Given the description of an element on the screen output the (x, y) to click on. 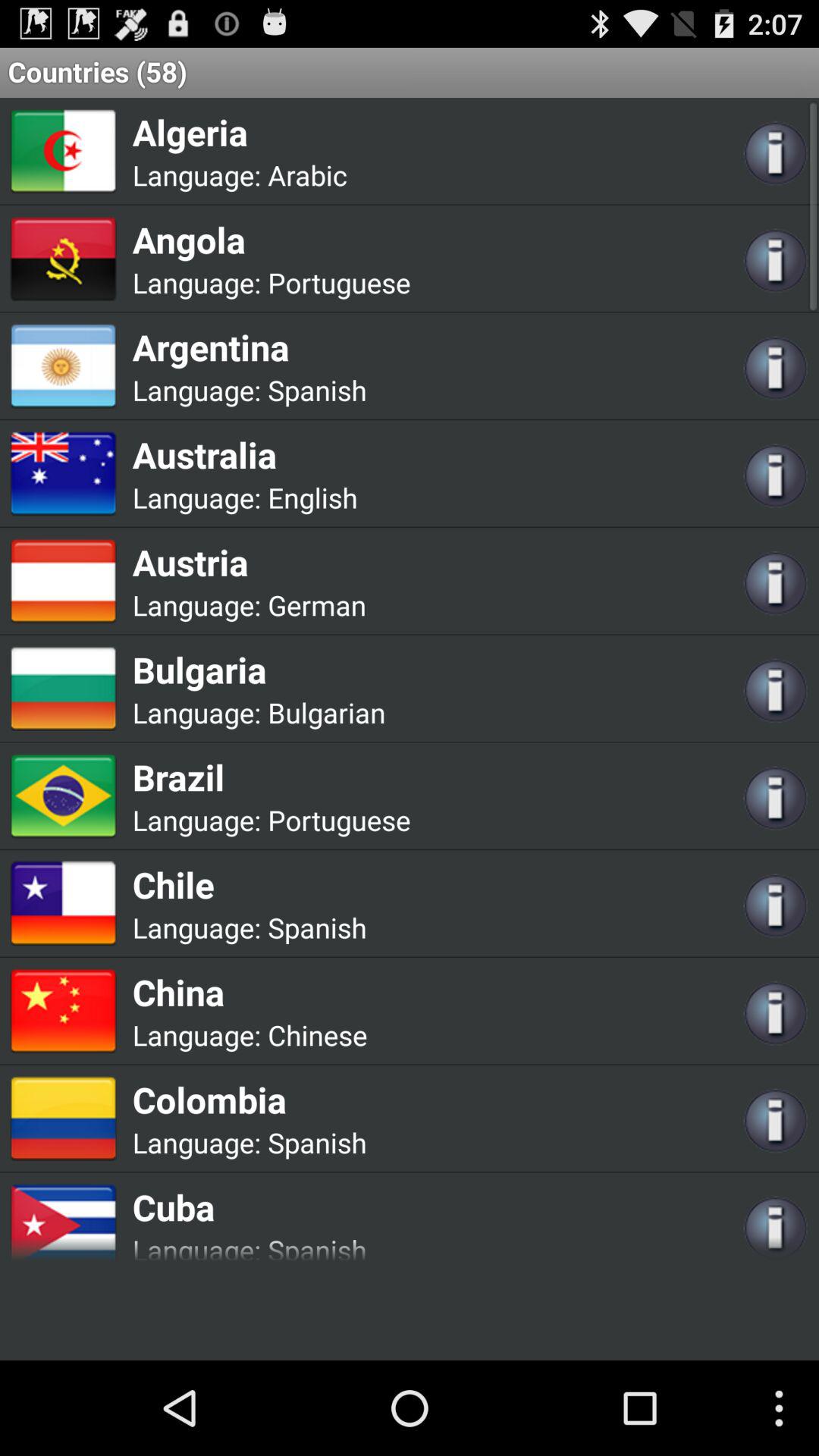
scroll to the australia (244, 454)
